Given the description of an element on the screen output the (x, y) to click on. 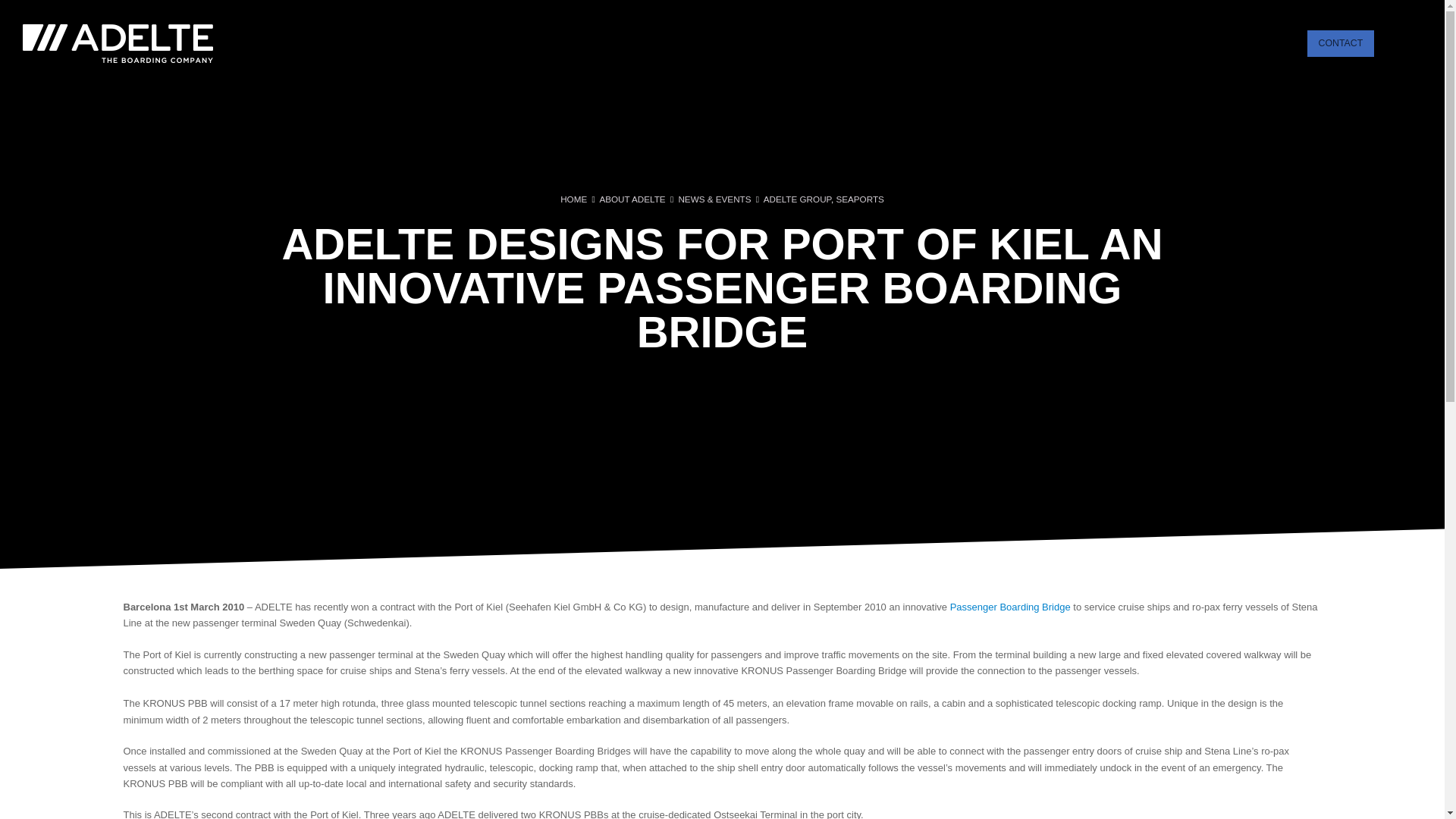
HOME (573, 198)
PROJECTS (1162, 43)
ABOUT ADELTE (1252, 43)
ADELTE GROUP (796, 198)
CONTACT (1340, 43)
Passenger Boarding Bridge (1010, 606)
GLOBAL SERVICES (1064, 43)
Passenger Boarding Bridge (1010, 606)
SEAPORTS (859, 198)
AIRPORTS (885, 43)
